Given the description of an element on the screen output the (x, y) to click on. 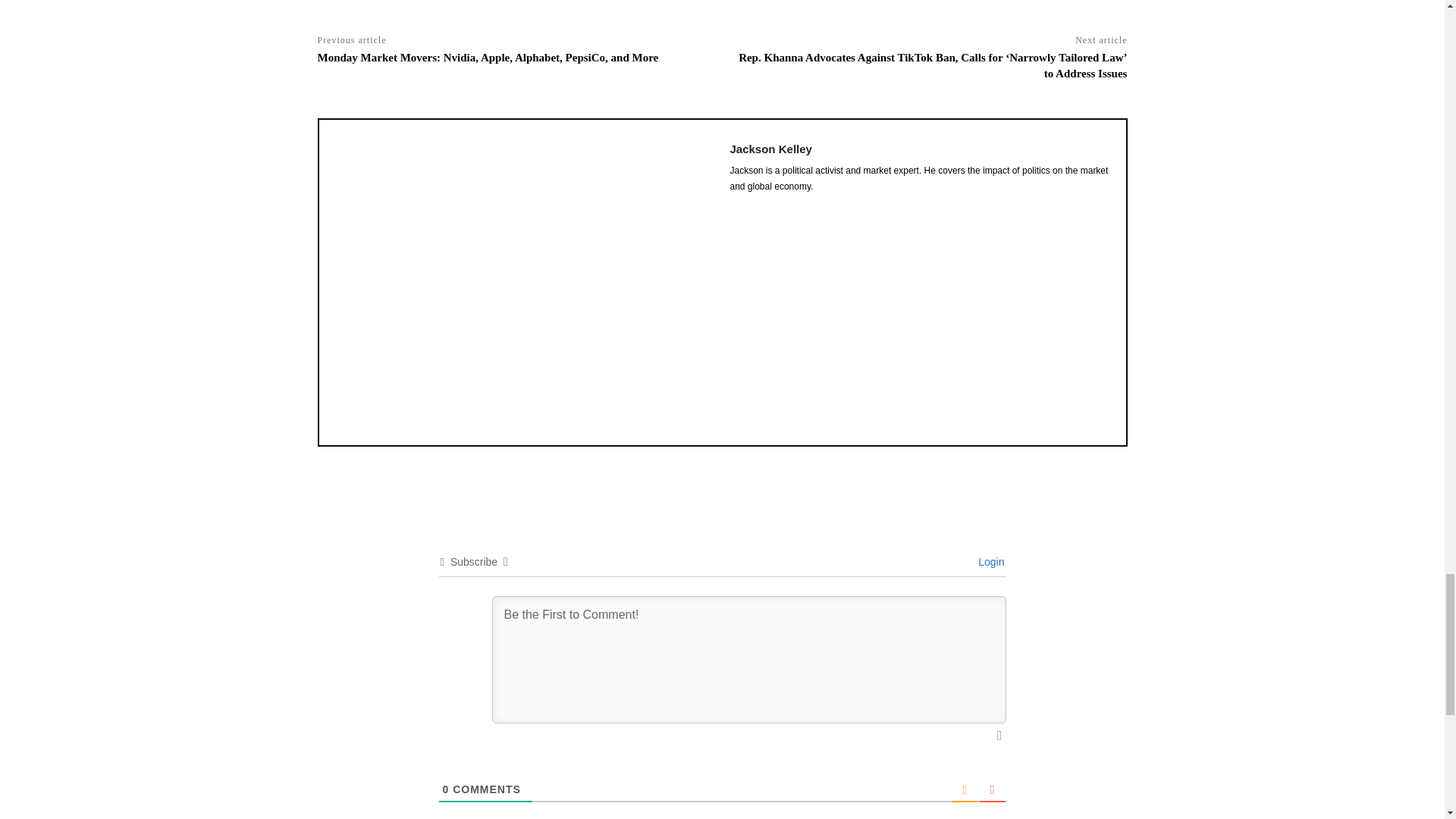
Jackson Kelley (524, 282)
